Given the description of an element on the screen output the (x, y) to click on. 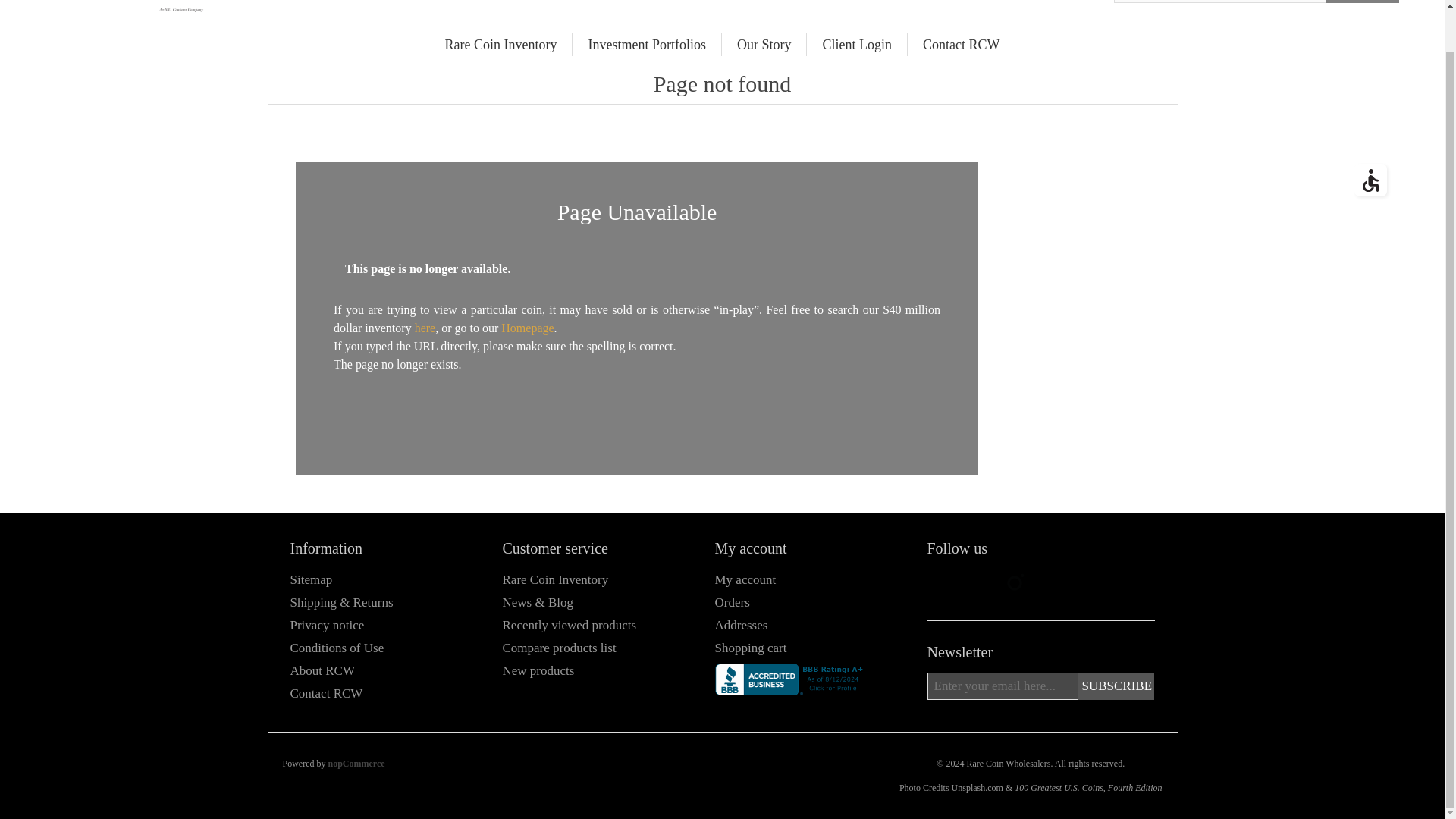
Search (1361, 1)
Rare Coin Wholesalers (125, 6)
Rare Coin Inventory (500, 44)
Subscribe (1116, 686)
Search (1361, 1)
Search (1361, 1)
